Given the description of an element on the screen output the (x, y) to click on. 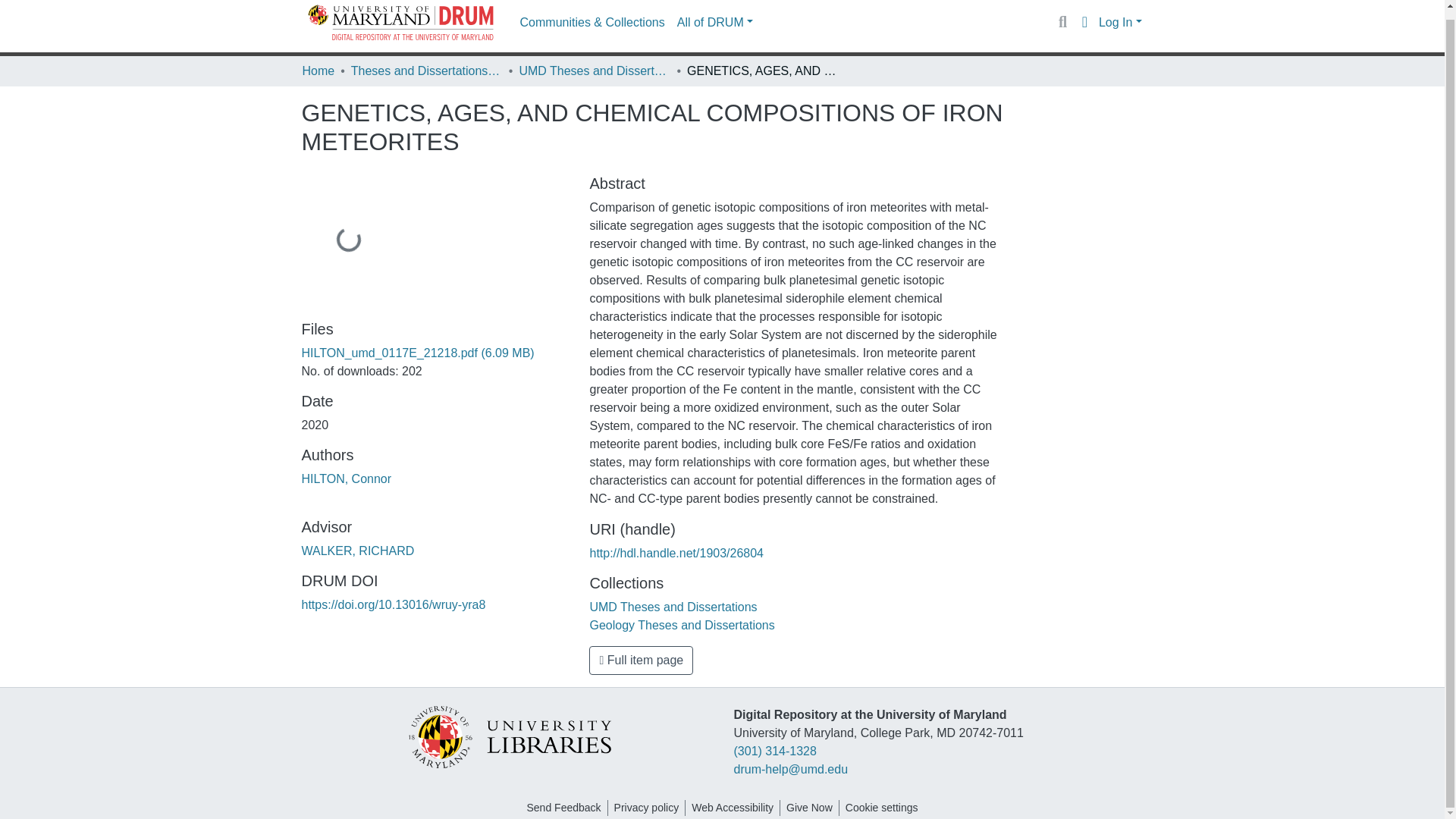
Geology Theses and Dissertations (681, 625)
Send Feedback (563, 807)
UMD Theses and Dissertations (593, 71)
UMD Theses and Dissertations (673, 606)
Full item page (641, 660)
Give Now (809, 807)
Log In (1119, 21)
Cookie settings (882, 807)
Libraries Home Page (508, 735)
All of DRUM (714, 21)
